Given the description of an element on the screen output the (x, y) to click on. 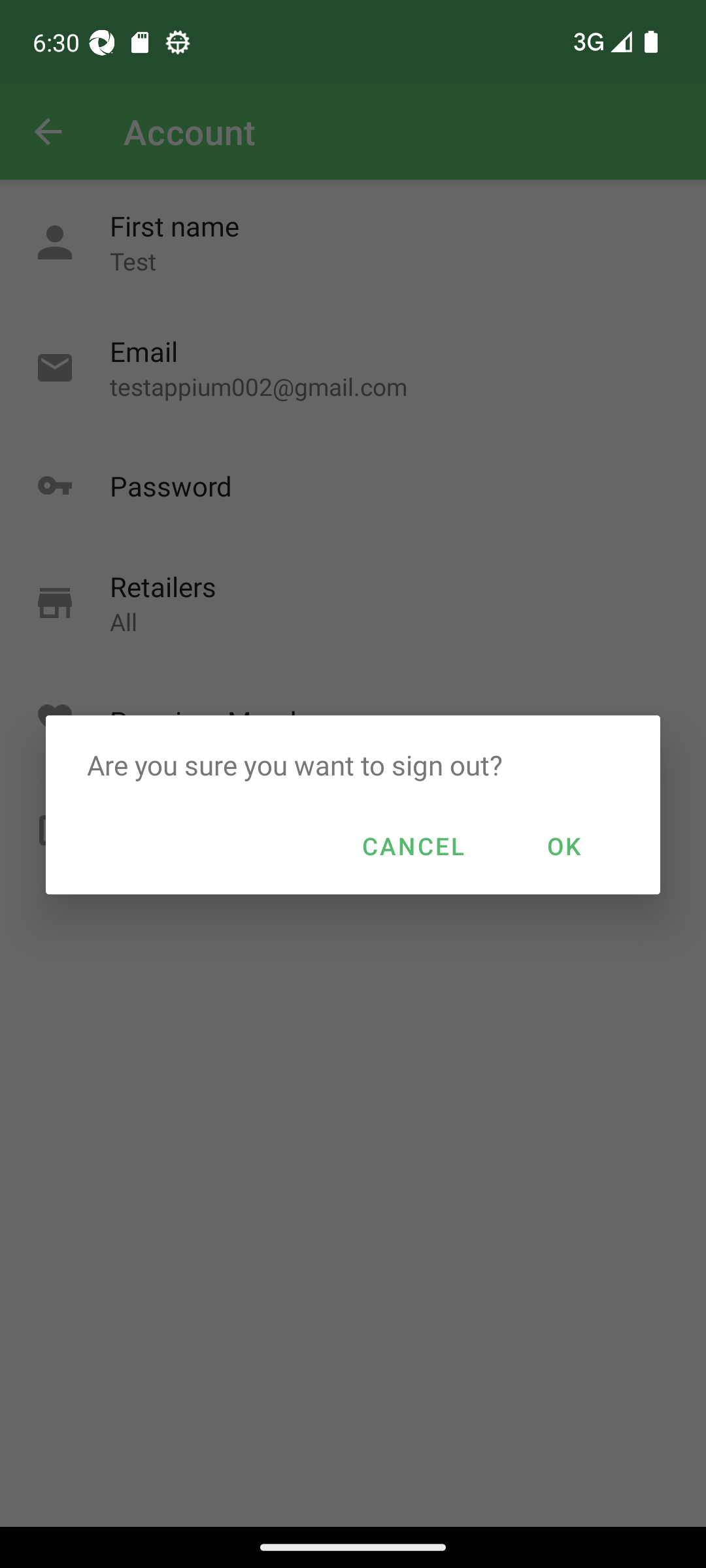
CANCEL (412, 845)
OK (563, 845)
